Given the description of an element on the screen output the (x, y) to click on. 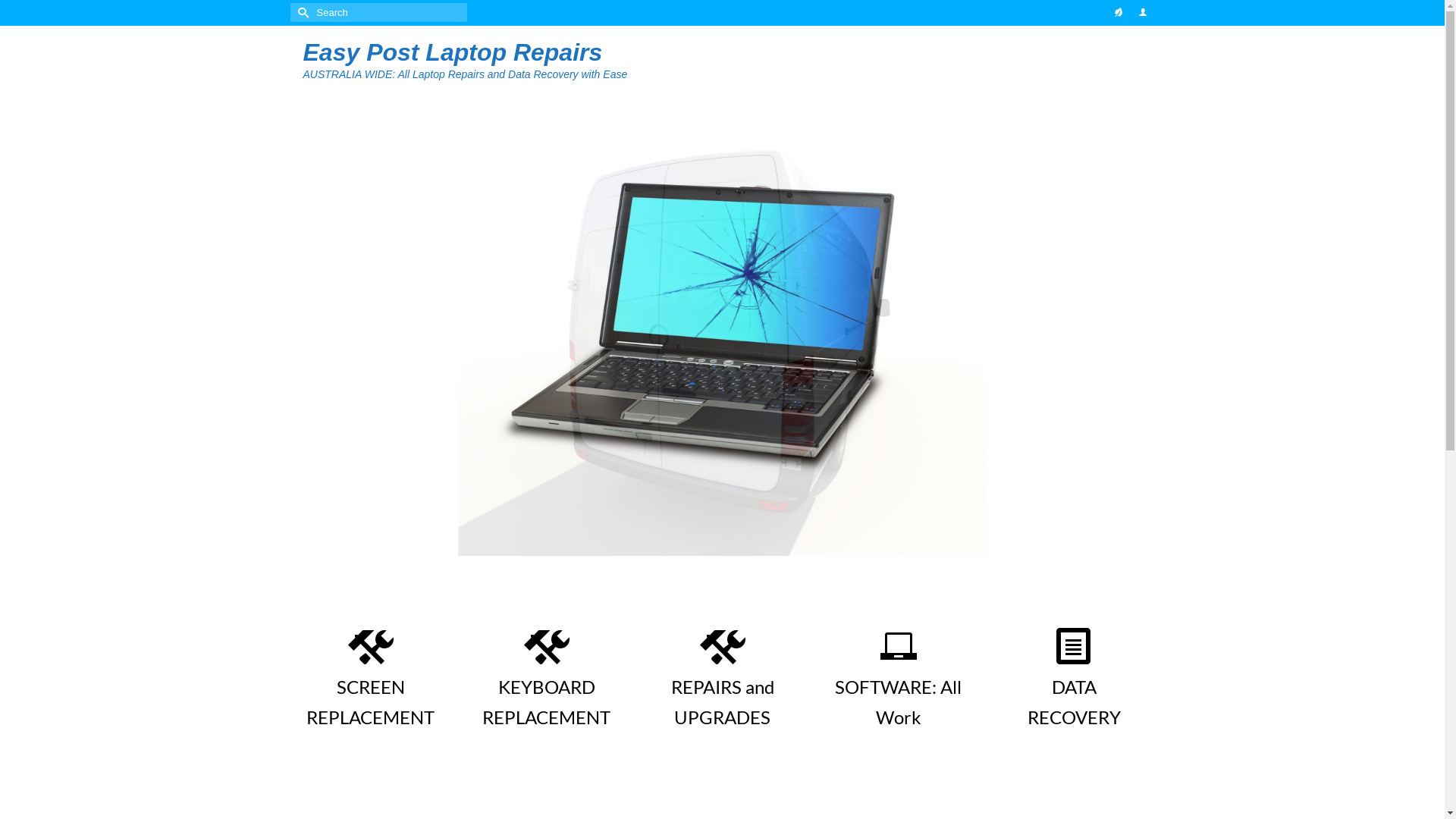
SCREEN REPLACEMENT Element type: text (369, 676)
Easy Post Laptop Repairs Element type: text (452, 51)
REPAIRS and UPGRADES Element type: text (721, 676)
KEYBOARD REPLACEMENT Element type: text (545, 676)
DATA RECOVERY Element type: text (1073, 676)
SOFTWARE: All Work Element type: text (897, 676)
